Given the description of an element on the screen output the (x, y) to click on. 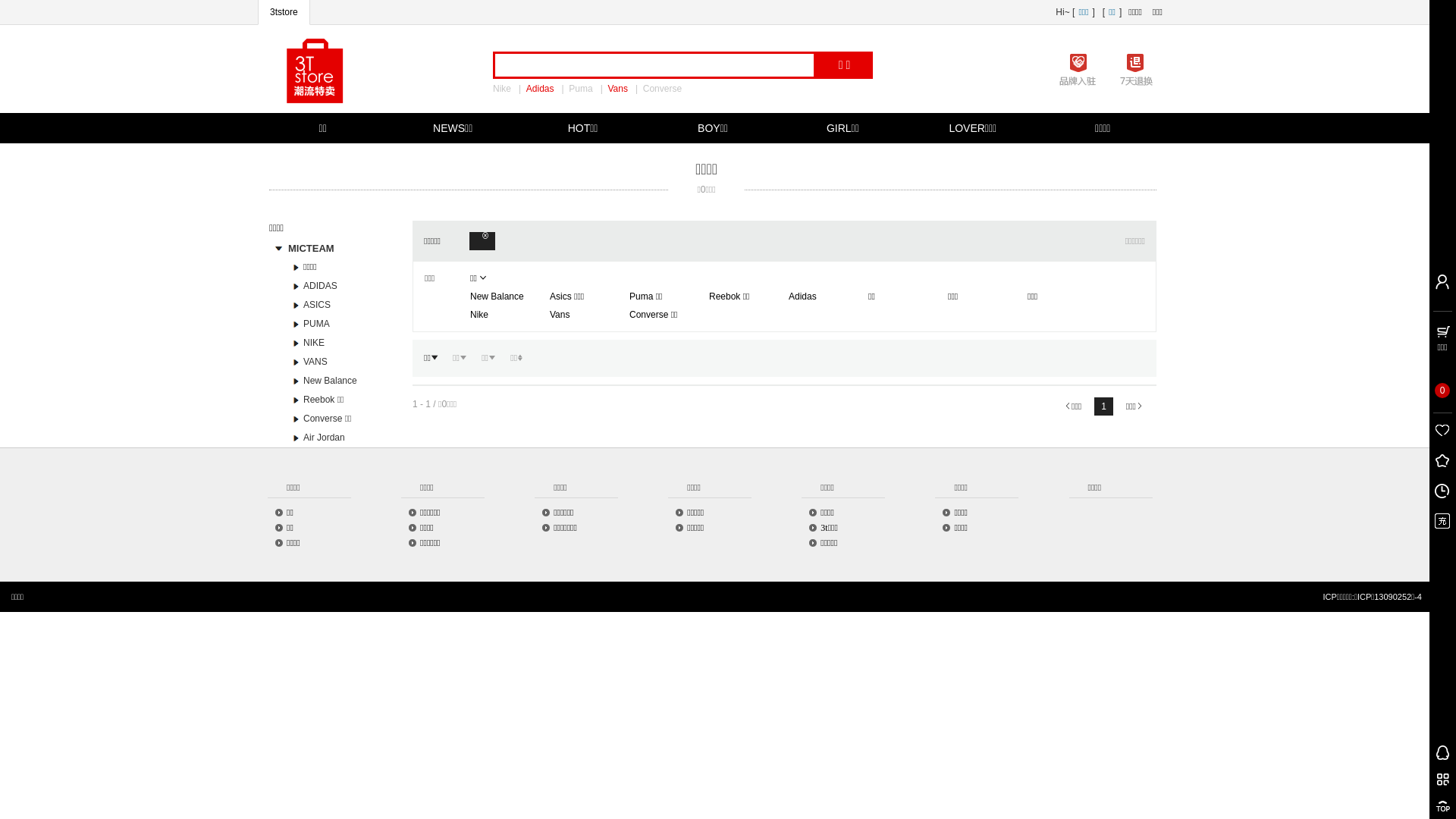
Nike Element type: text (479, 314)
x Element type: text (484, 241)
Adidas Element type: text (802, 296)
Vans Element type: text (620, 88)
New Balance Element type: text (497, 296)
Puma Element type: text (583, 88)
Nike Element type: text (505, 88)
Vans Element type: text (559, 314)
Adidas Element type: text (543, 88)
1 Element type: text (1103, 406)
Converse Element type: text (666, 88)
3tstore Element type: text (283, 11)
